Given the description of an element on the screen output the (x, y) to click on. 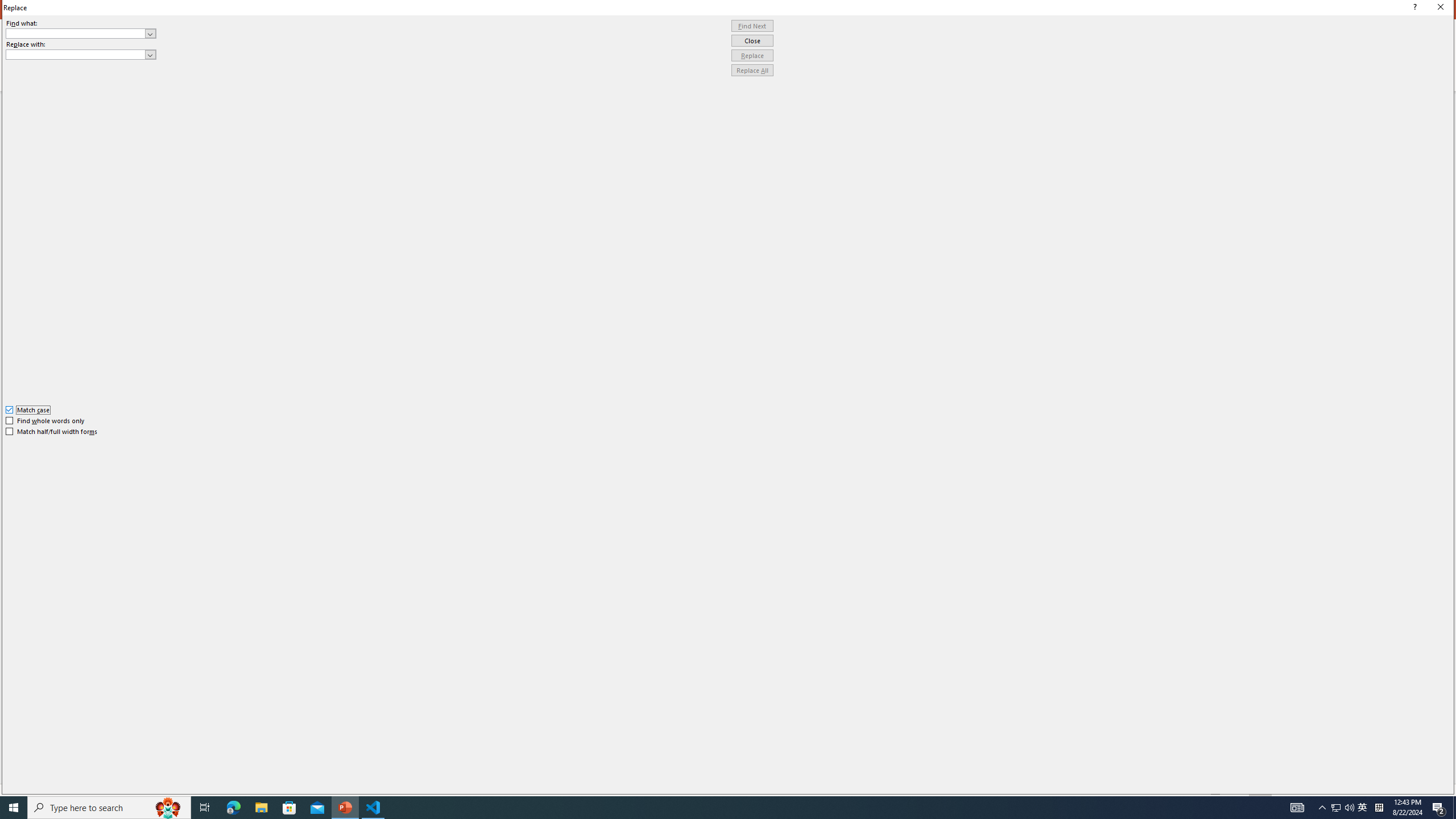
Replace with (80, 54)
Find whole words only (45, 420)
Match half/full width forms (52, 431)
Replace (752, 55)
Find what (75, 33)
Replace All (752, 69)
Find what (80, 33)
Match case (27, 409)
Context help (1413, 8)
Find Next (752, 25)
Replace with (75, 53)
